Given the description of an element on the screen output the (x, y) to click on. 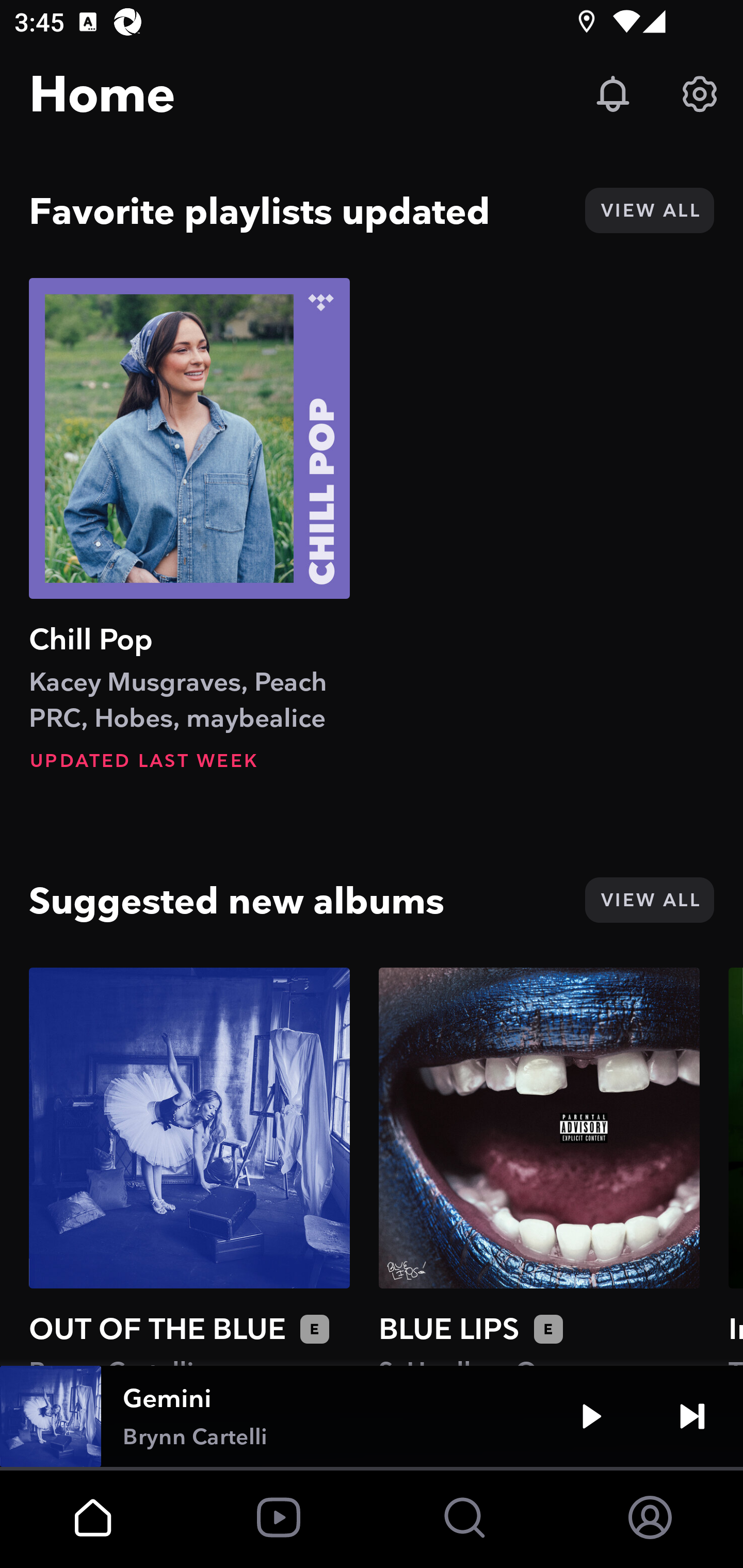
Updates (612, 93)
Settings (699, 93)
VIEW ALL (649, 210)
VIEW ALL (649, 899)
OUT OF THE BLUE Brynn Cartelli (188, 1166)
BLUE LIPS ScHoolboy Q (538, 1166)
Gemini Brynn Cartelli Play (371, 1416)
Play (590, 1416)
